Given the description of an element on the screen output the (x, y) to click on. 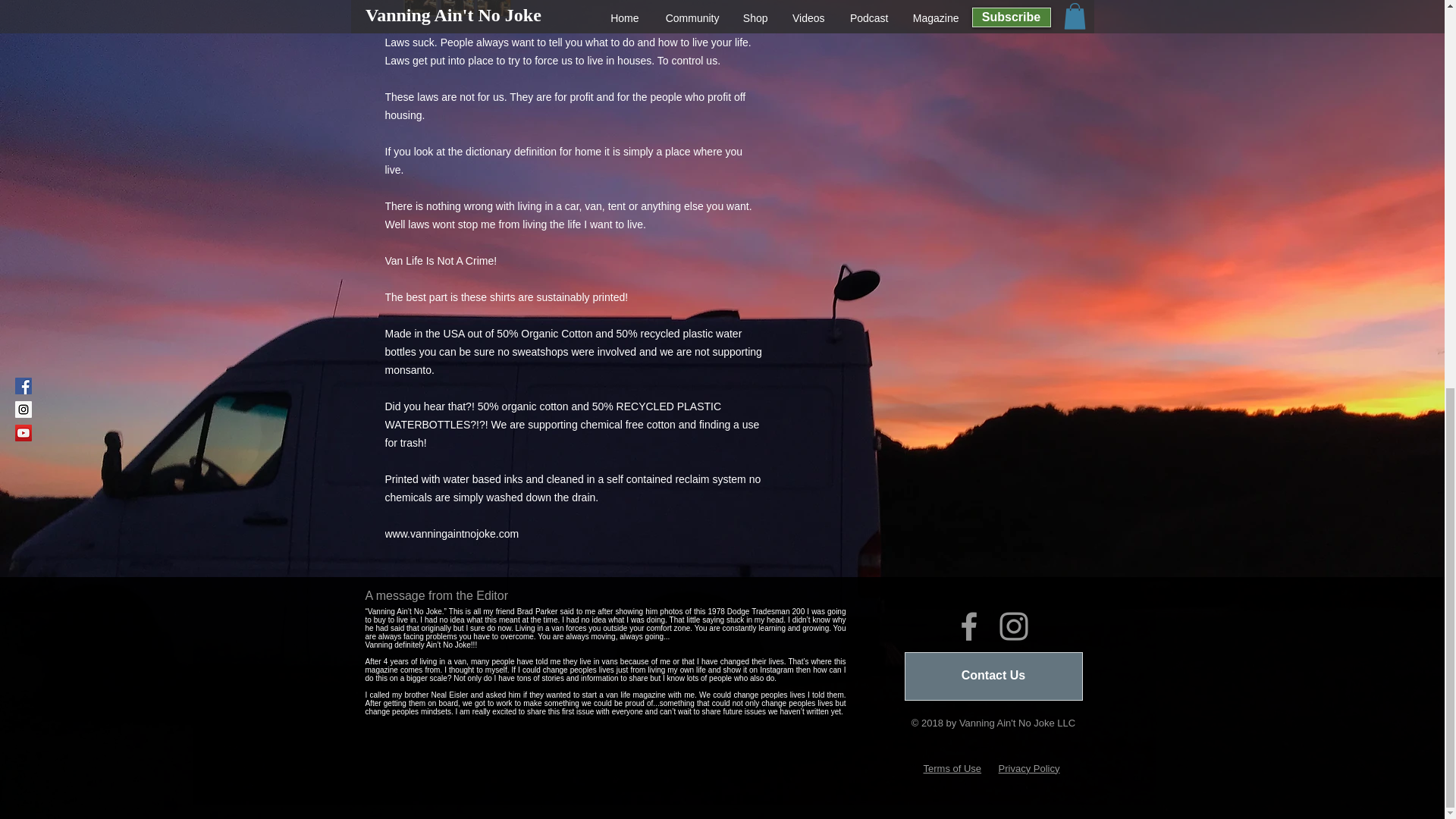
Privacy Policy (1028, 767)
Contact Us (992, 676)
Terms of Use (952, 767)
